Given the description of an element on the screen output the (x, y) to click on. 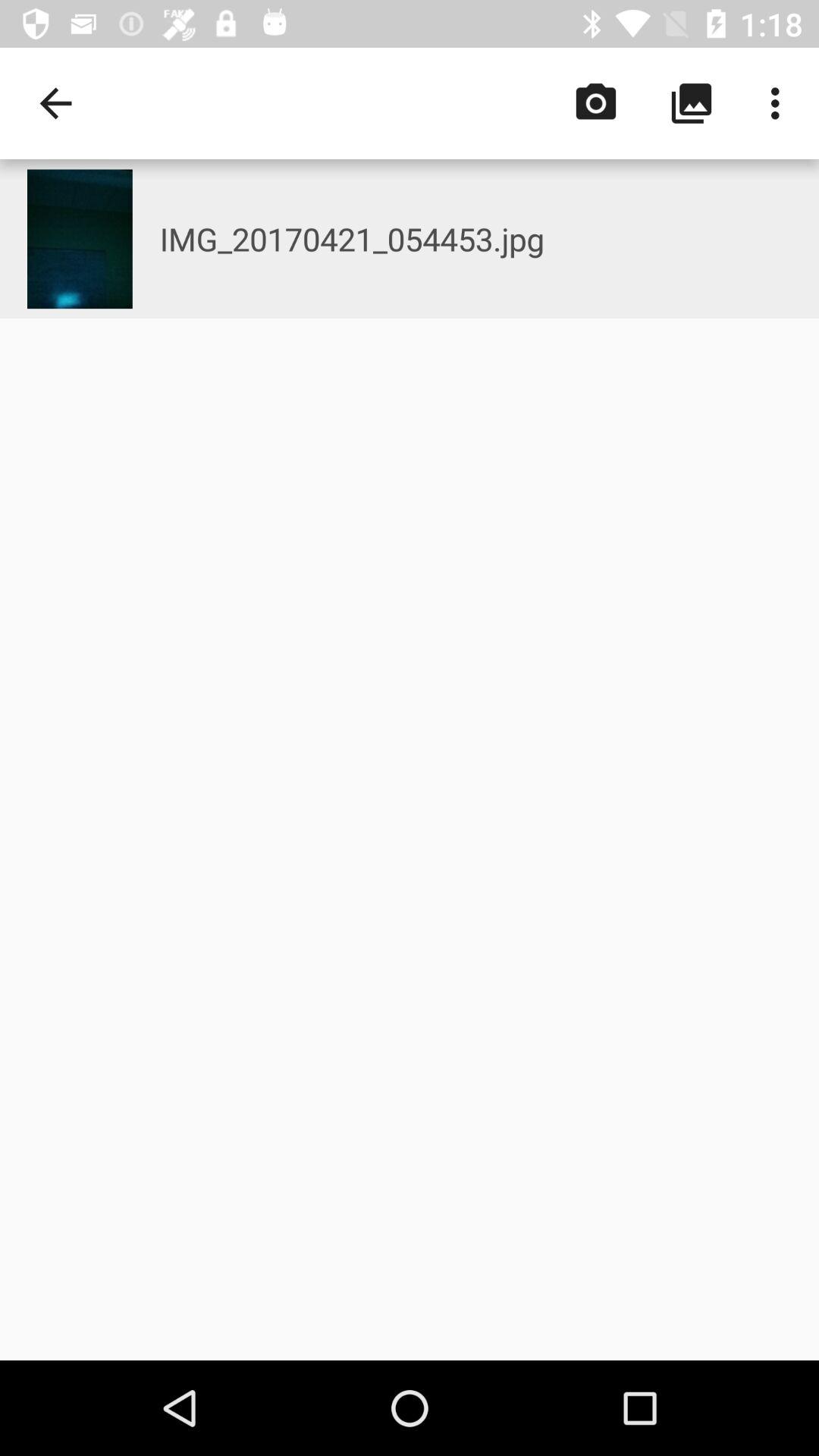
choose icon above img_20170421_054453.jpg (779, 103)
